Given the description of an element on the screen output the (x, y) to click on. 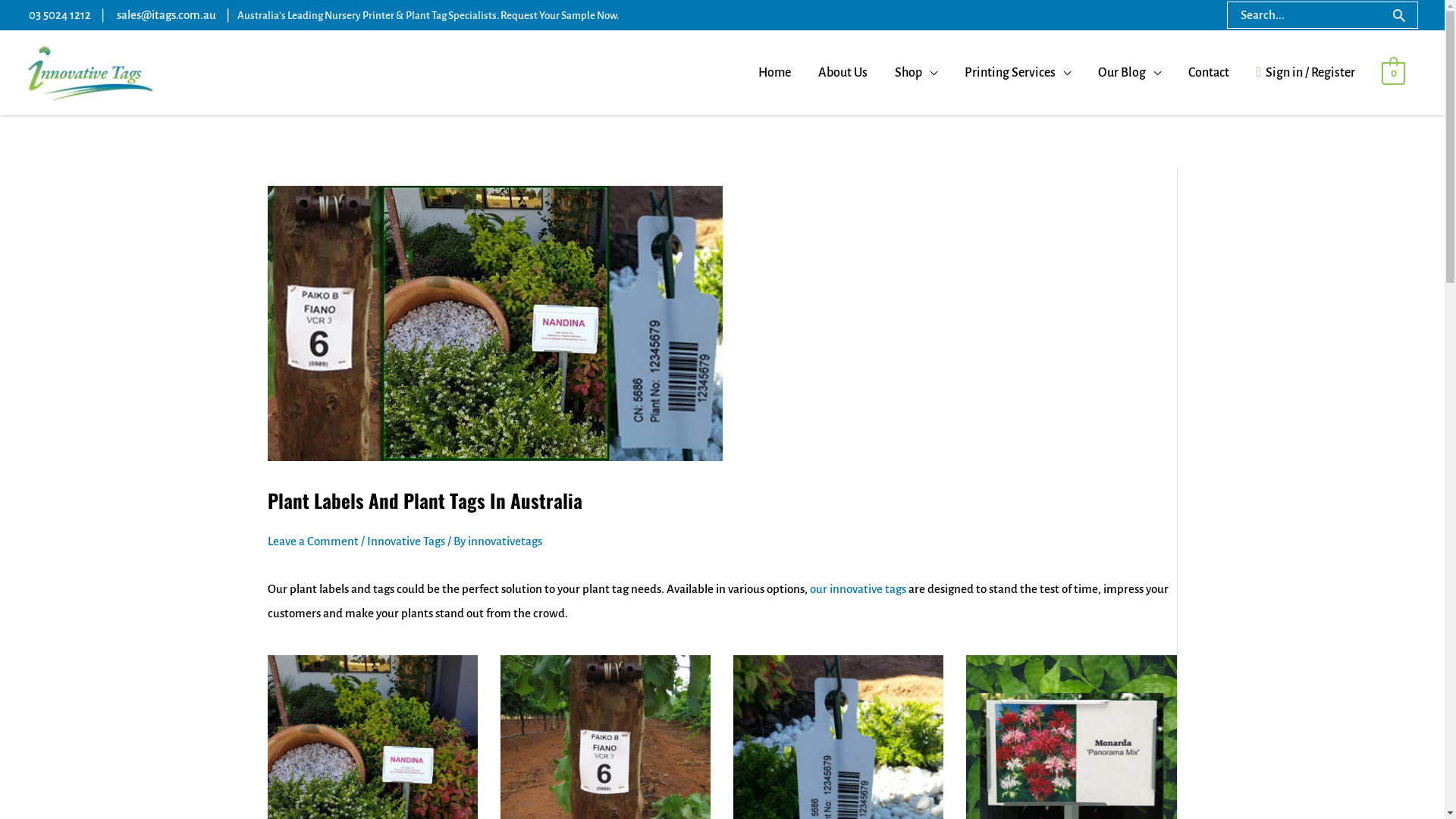
Sign in / Register Element type: text (1305, 72)
Shop Element type: text (915, 72)
Innovative Tags Element type: text (406, 540)
Contact Element type: text (1208, 72)
Search Element type: text (1399, 15)
our innovative tags Element type: text (857, 588)
Our Blog Element type: text (1129, 72)
0 Element type: text (1393, 71)
Request Your Sample Now Element type: text (558, 15)
Leave a Comment Element type: text (311, 540)
03 5024 1212 Element type: text (59, 14)
Home Element type: text (774, 72)
Printing Services Element type: text (1017, 72)
About Us Element type: text (842, 72)
sales@itags.com.au Element type: text (166, 14)
innovativetags Element type: text (504, 540)
